Given the description of an element on the screen output the (x, y) to click on. 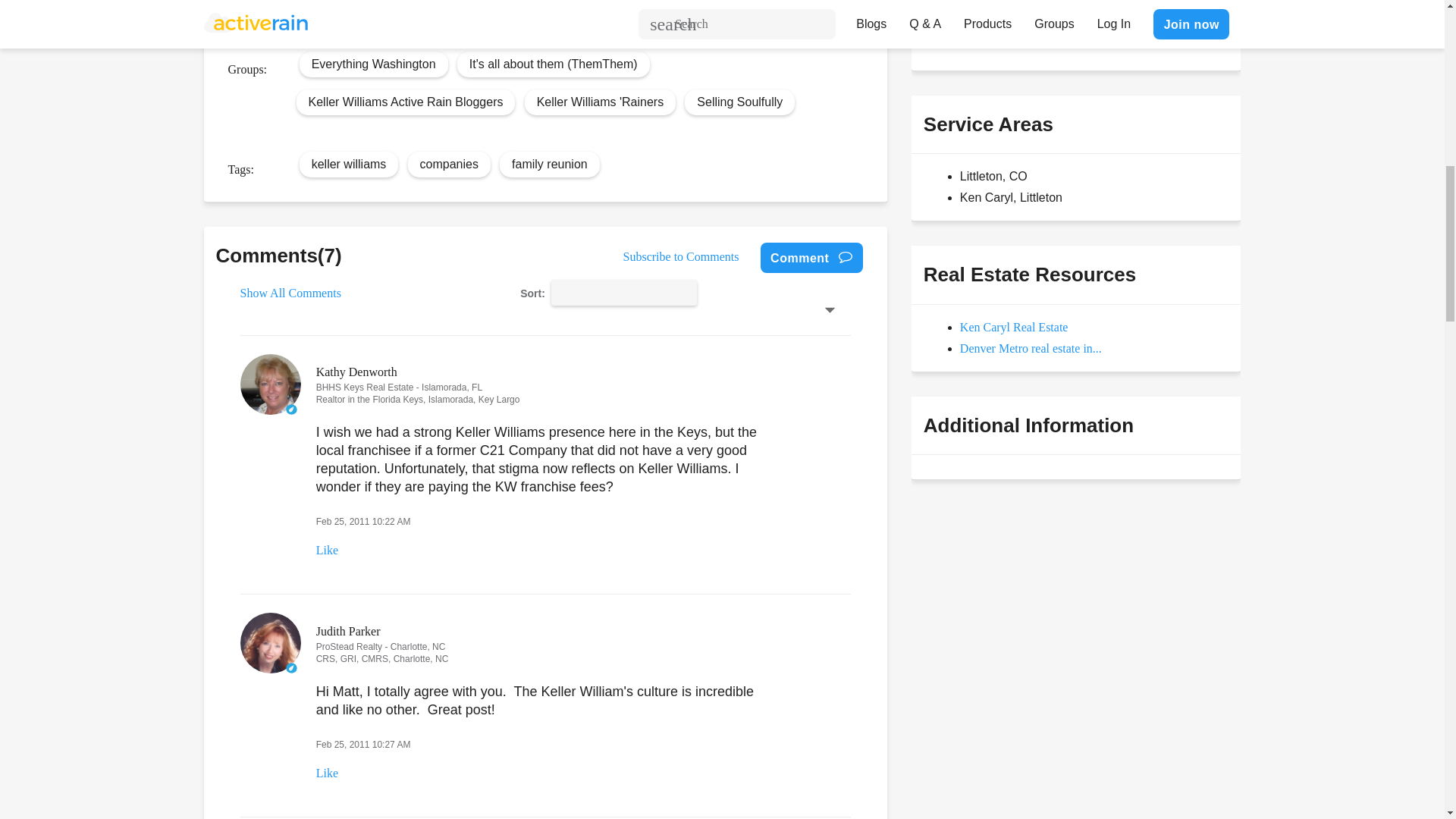
Keller Williams Active Rain Bloggers (404, 101)
Everything Washington (373, 63)
Denver Metro real estate information (1030, 348)
Ken Caryl Real Estate (1013, 327)
Send Message (978, 30)
keller williams (349, 164)
Keller Williams 'Rainers (600, 101)
Copy (492, 18)
companies (449, 164)
Selling Soulfully (740, 101)
